Given the description of an element on the screen output the (x, y) to click on. 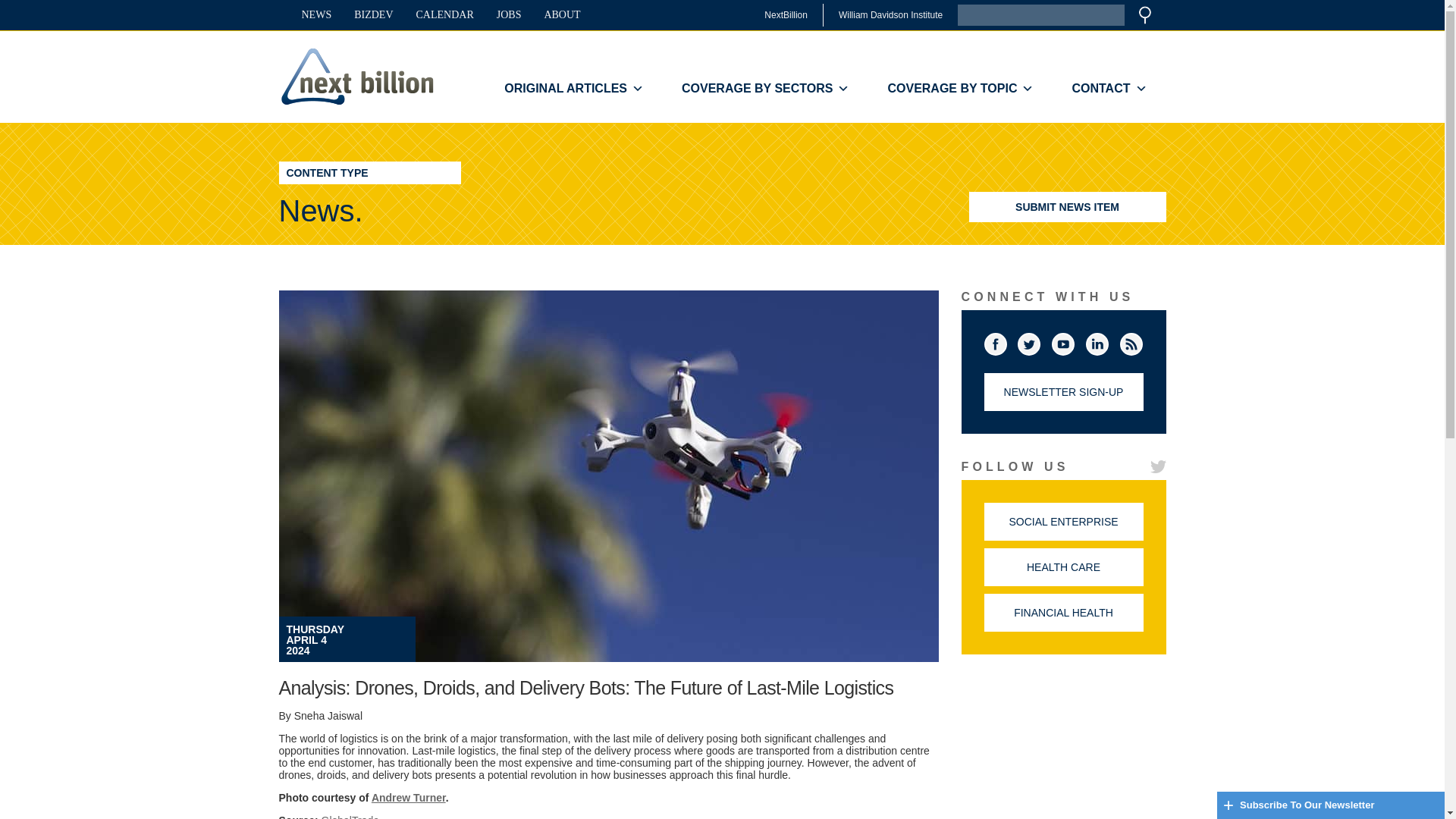
COVERAGE BY SECTORS (764, 88)
ORIGINAL ARTICLES (573, 88)
COVERAGE BY TOPIC (959, 88)
